Given the description of an element on the screen output the (x, y) to click on. 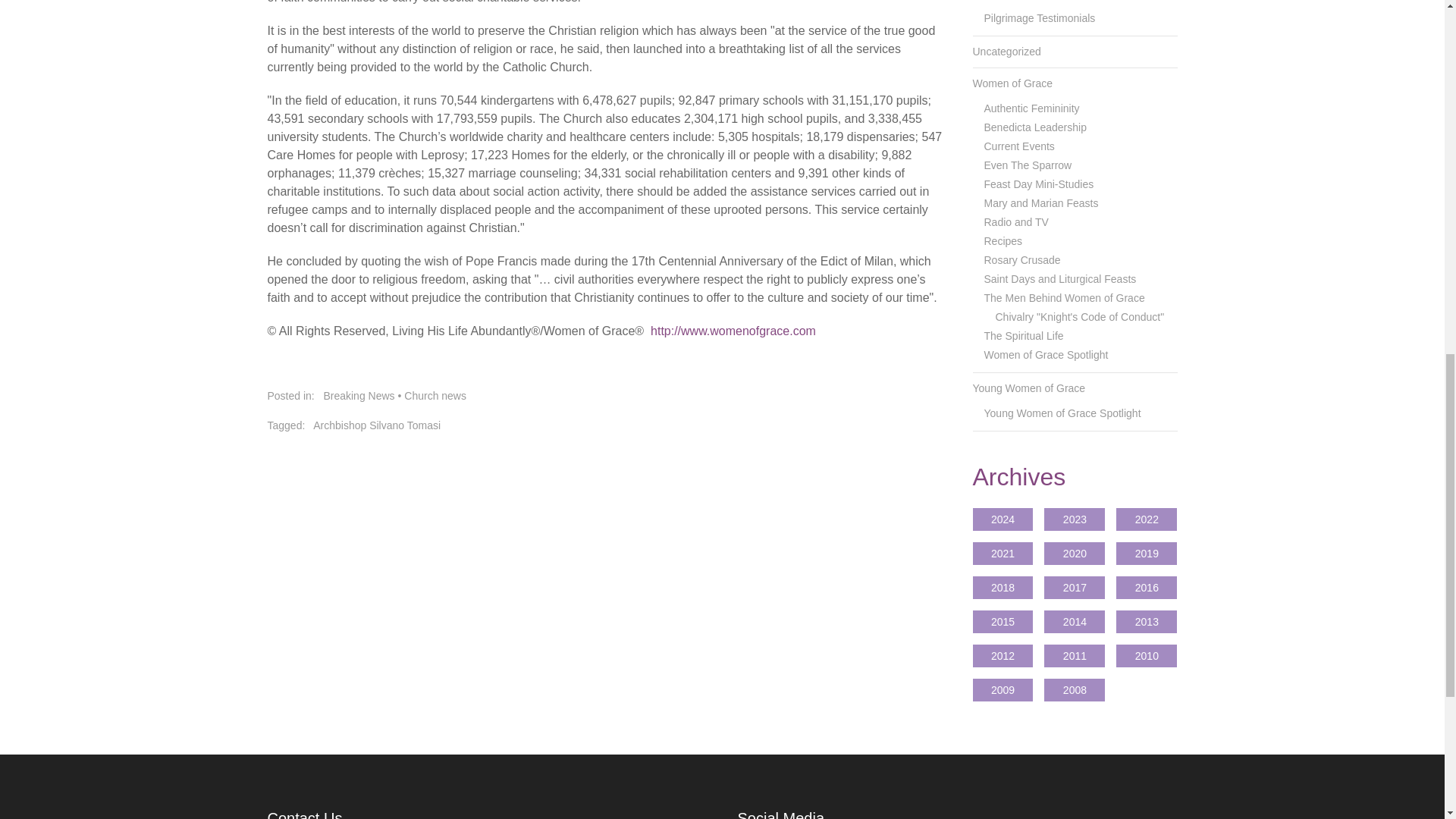
Breaking News (358, 395)
Archbishop Silvano Tomasi (377, 425)
Church news (434, 395)
